Given the description of an element on the screen output the (x, y) to click on. 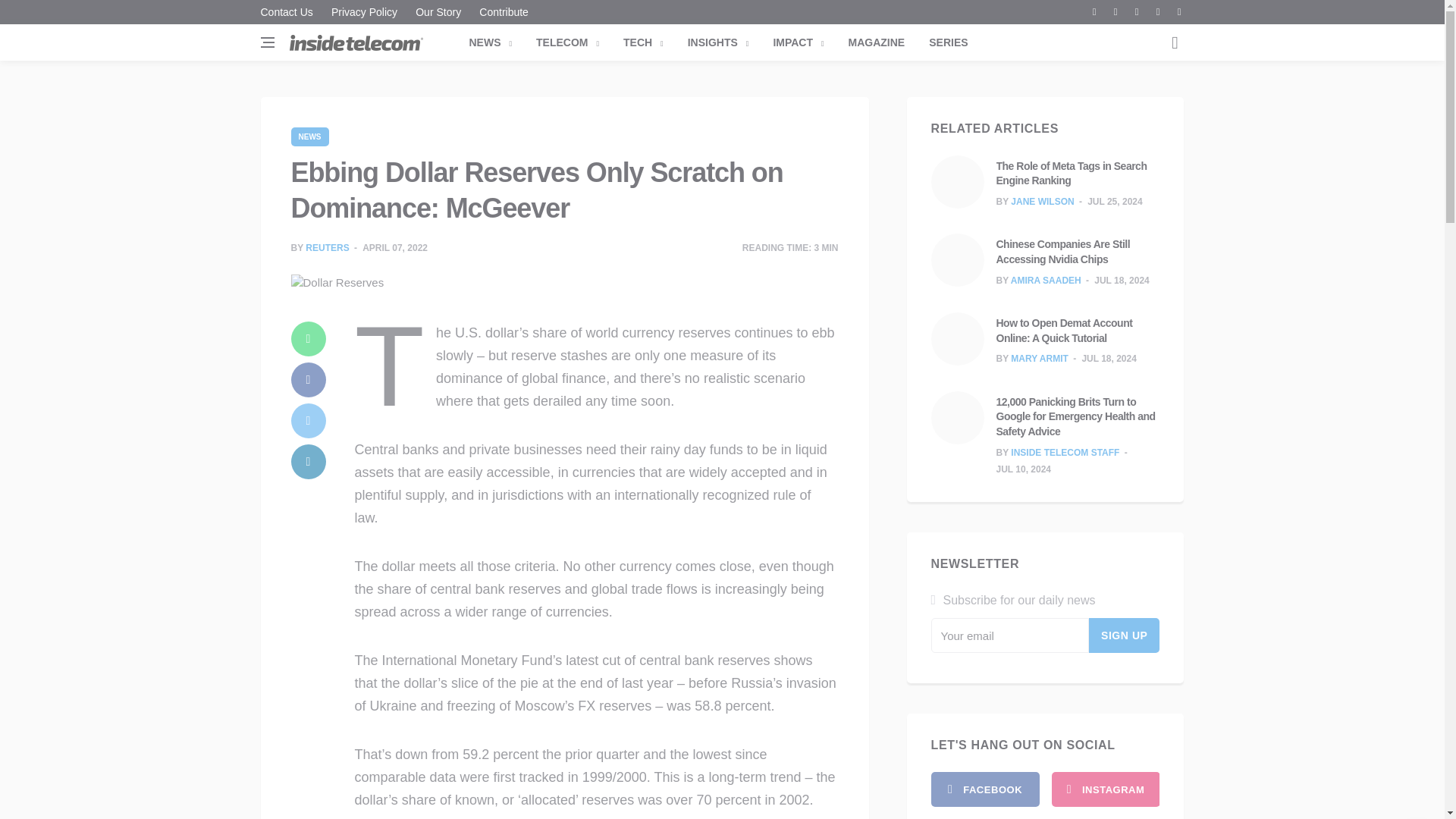
whatsapp (308, 338)
Our Story (437, 12)
twitter (308, 420)
facebook (308, 379)
facebook (985, 789)
Privacy Policy (363, 12)
linkedin (308, 461)
Contact Us (290, 12)
instagram (1104, 789)
